Given the description of an element on the screen output the (x, y) to click on. 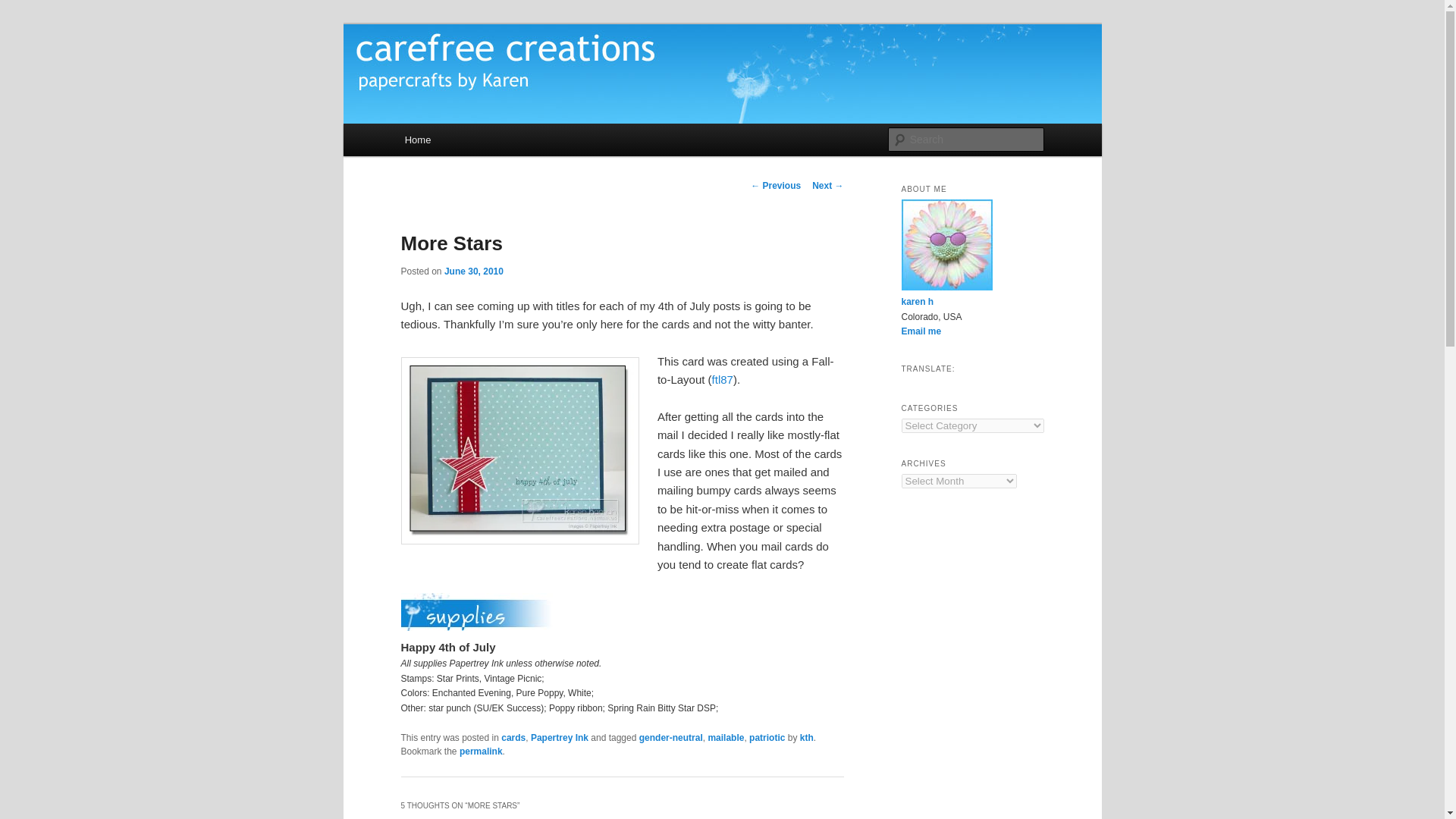
About Me (917, 301)
Carefree Creations (502, 78)
gender-neutral (671, 737)
Search (19, 7)
permalink (481, 751)
Permalink to More Stars (481, 751)
mailable (725, 737)
cards (512, 737)
Home (417, 139)
